Given the description of an element on the screen output the (x, y) to click on. 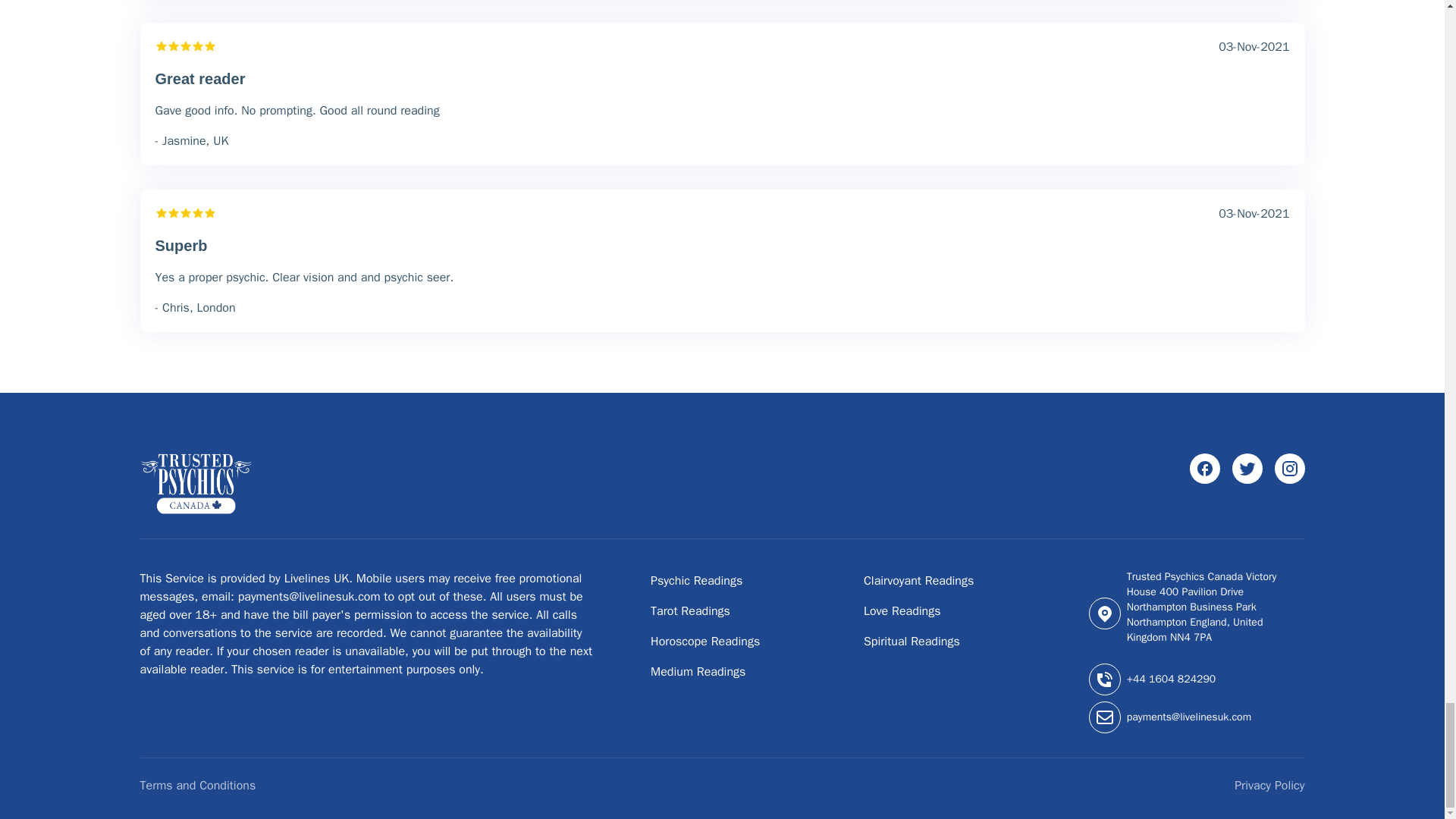
Psychic Readings (696, 580)
Tarot Readings (690, 611)
Horoscope Readings (705, 641)
Medium Readings (697, 671)
Clairvoyant Readings (918, 580)
Love Readings (901, 611)
Spiritual Readings (911, 641)
